Given the description of an element on the screen output the (x, y) to click on. 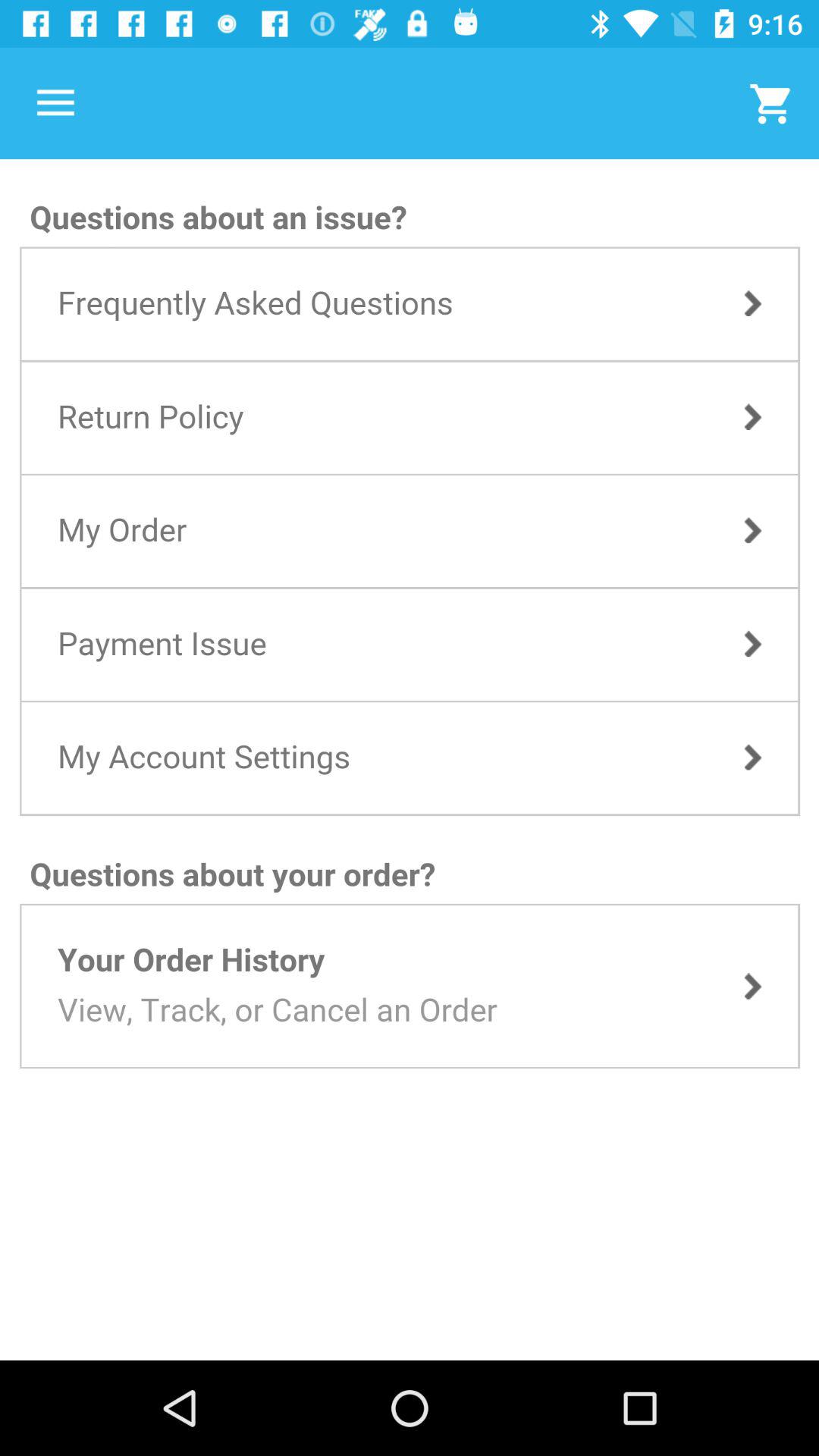
faq screen (409, 759)
